Given the description of an element on the screen output the (x, y) to click on. 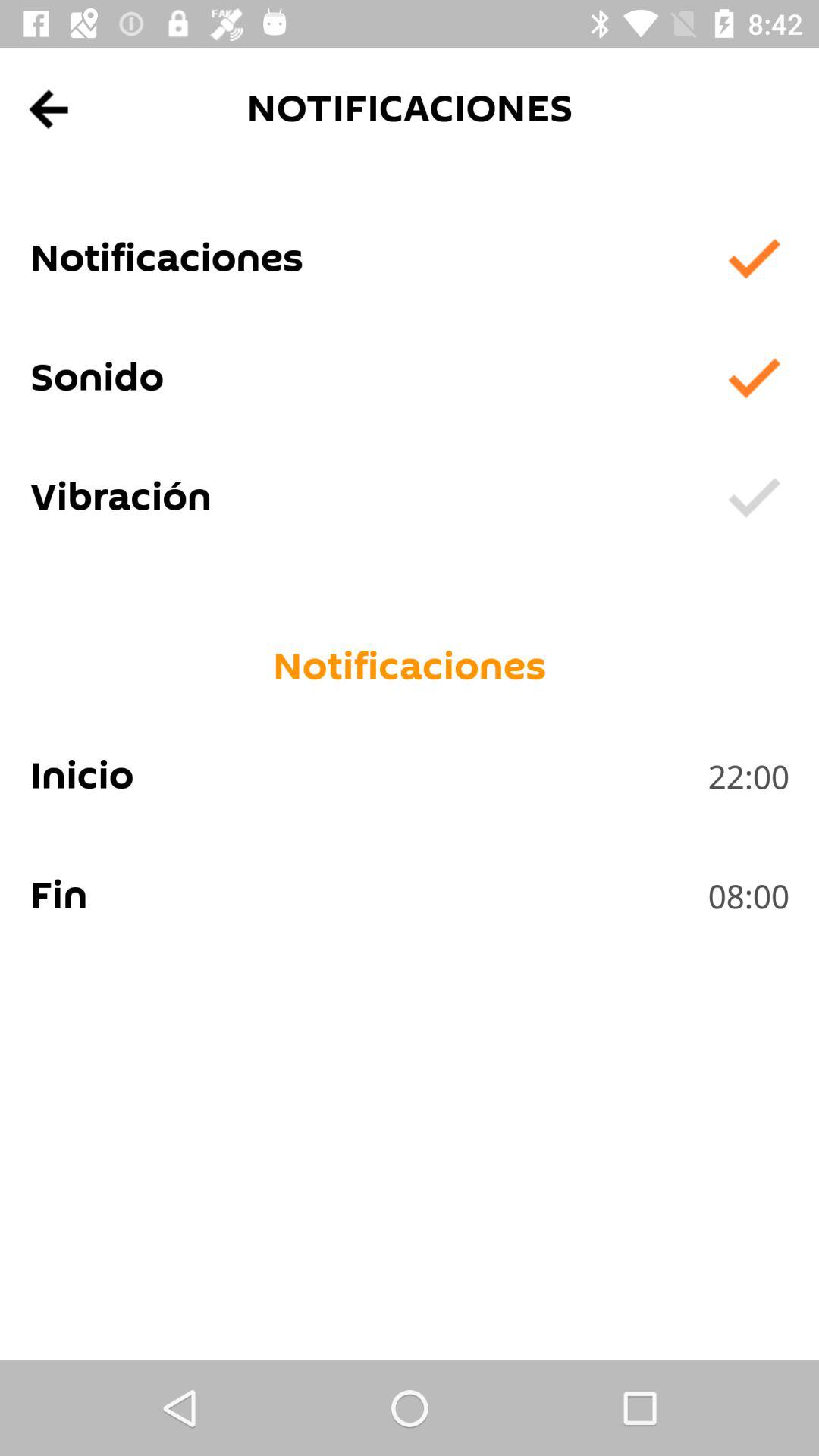
open item at the top left corner (49, 109)
